Given the description of an element on the screen output the (x, y) to click on. 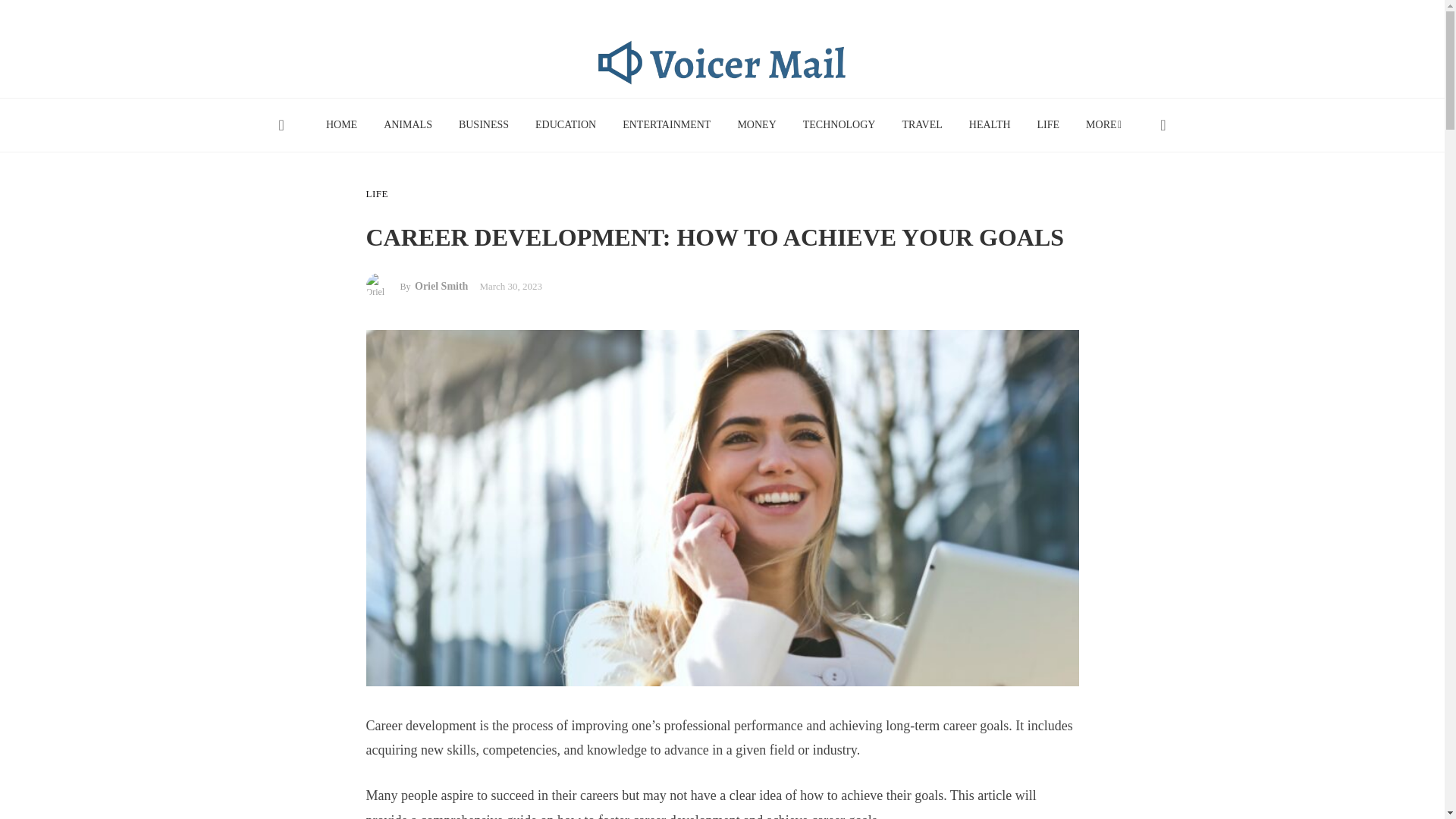
ANIMALS (408, 124)
EDUCATION (566, 124)
HOME (341, 124)
BUSINESS (483, 124)
March 30, 2023 at 7:41 am (510, 285)
